Given the description of an element on the screen output the (x, y) to click on. 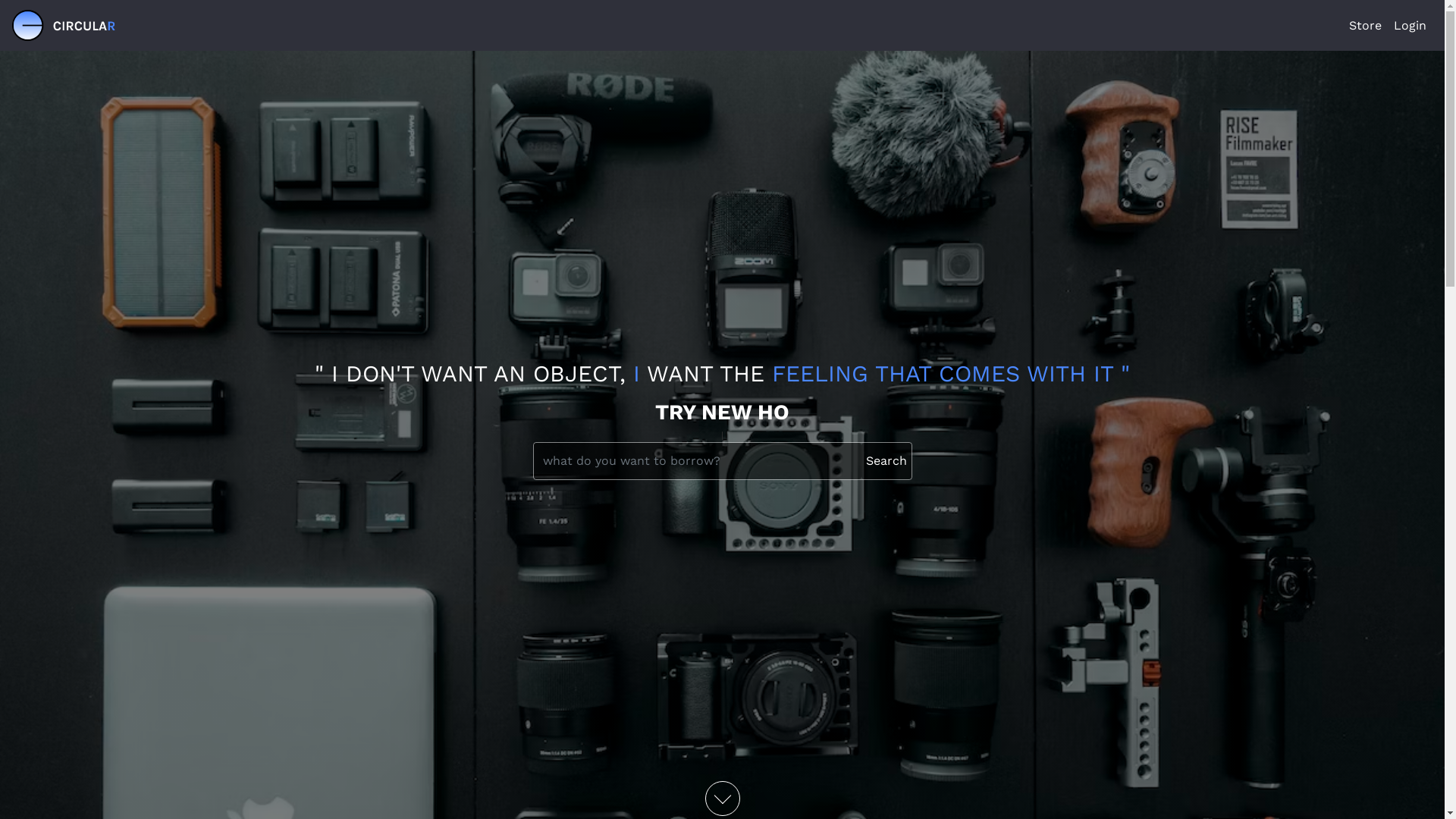
Store Element type: text (1365, 25)
Search Element type: text (886, 460)
Login Element type: text (1409, 25)
